Given the description of an element on the screen output the (x, y) to click on. 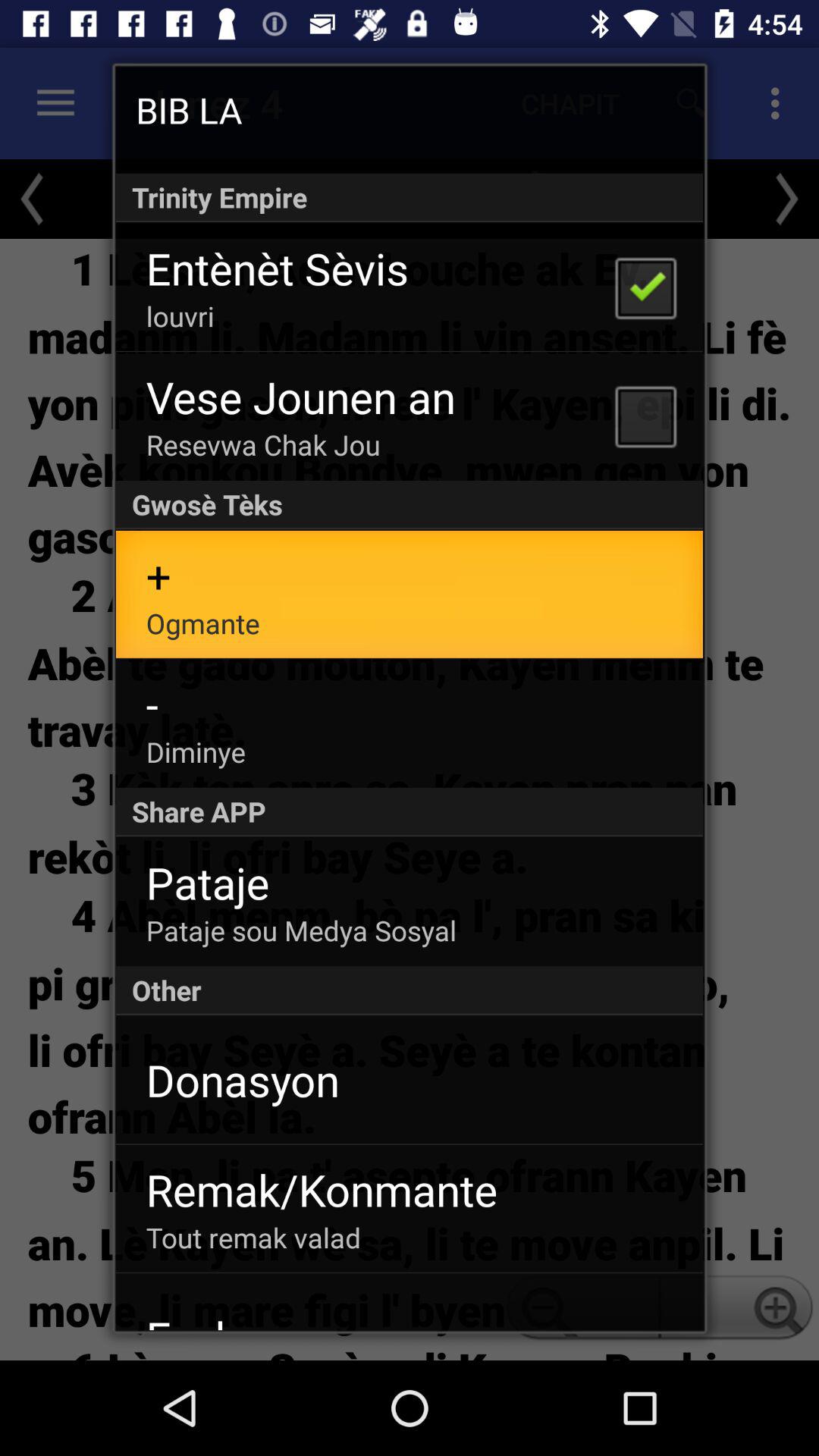
launch the app above the louvri app (277, 267)
